Given the description of an element on the screen output the (x, y) to click on. 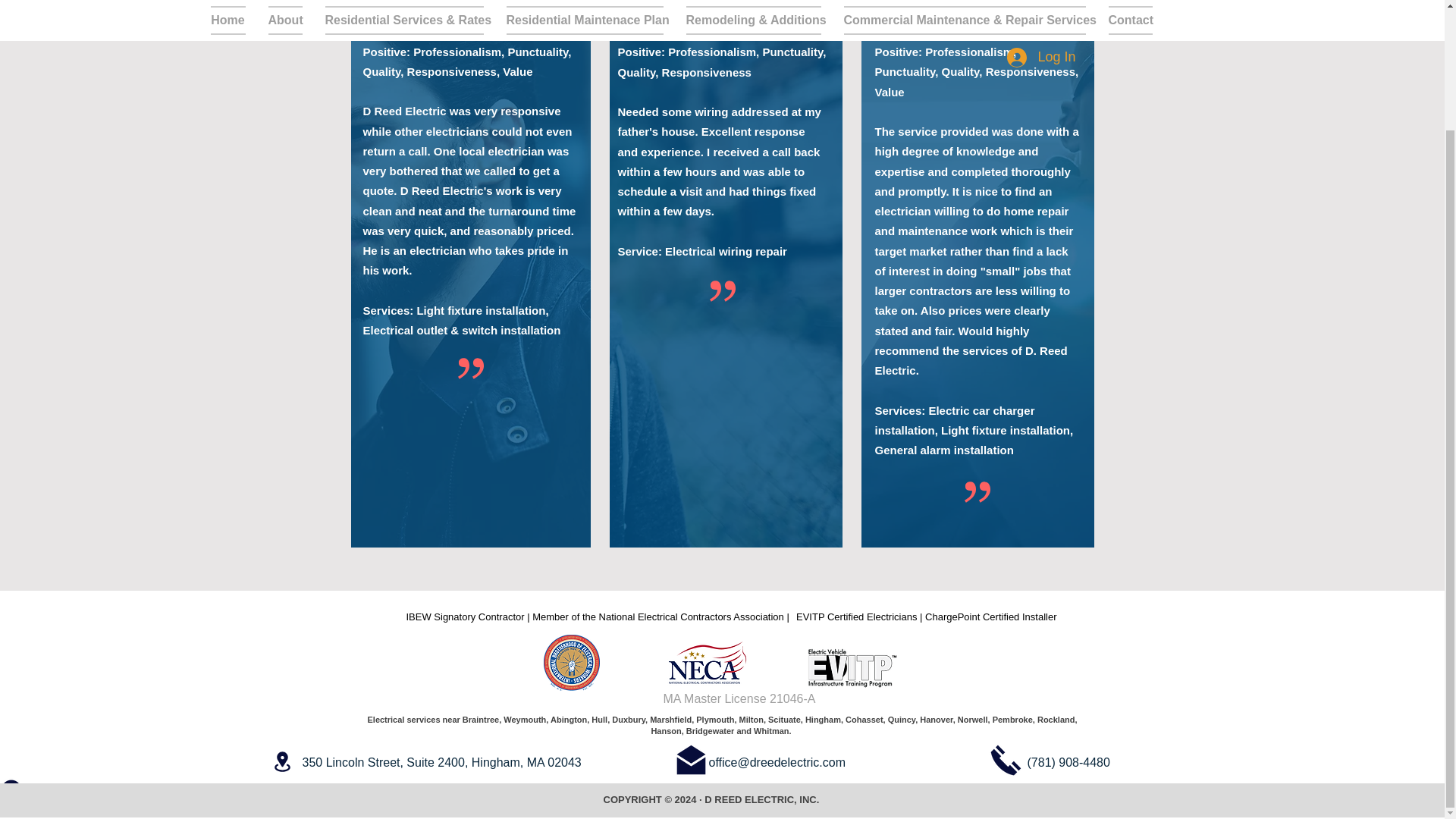
350 Lincoln Street, Suite 2400, Hingham, MA 02043 (440, 762)
